Given the description of an element on the screen output the (x, y) to click on. 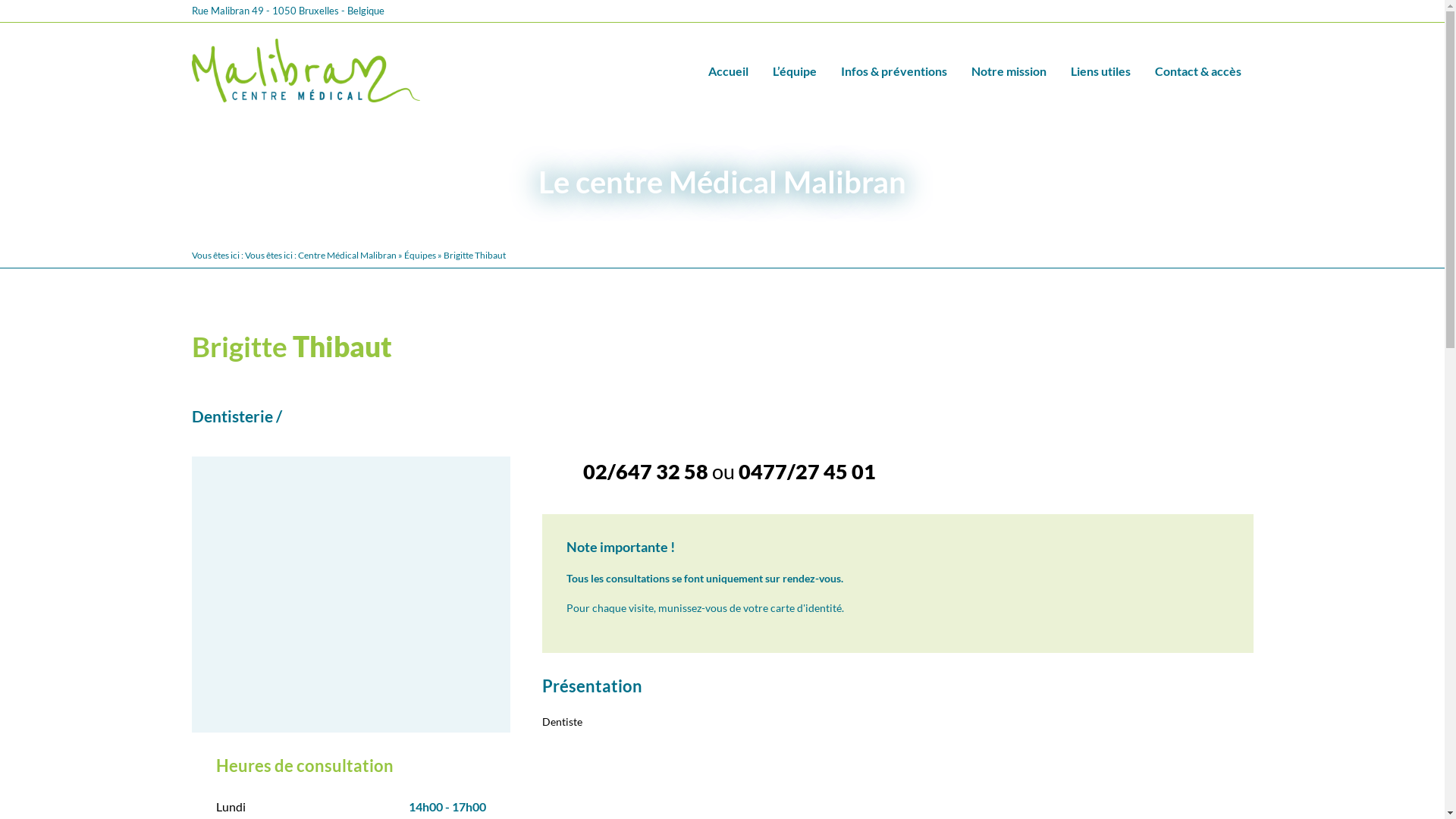
Accueil Element type: text (728, 70)
Notre mission Element type: text (1007, 70)
Liens utiles Element type: text (1100, 70)
